Given the description of an element on the screen output the (x, y) to click on. 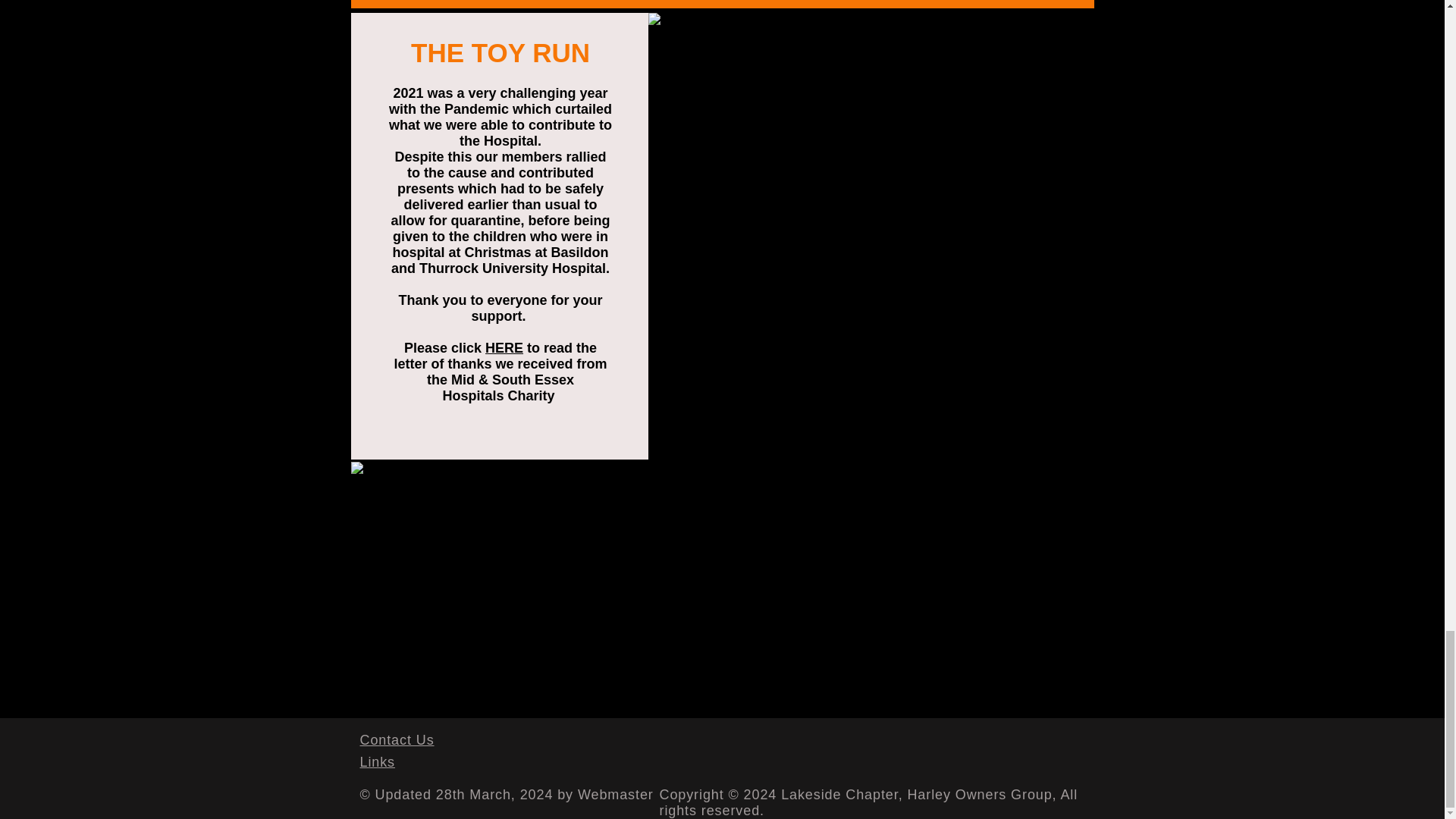
HERE (503, 347)
Contact Us (396, 739)
Links (376, 761)
